Given the description of an element on the screen output the (x, y) to click on. 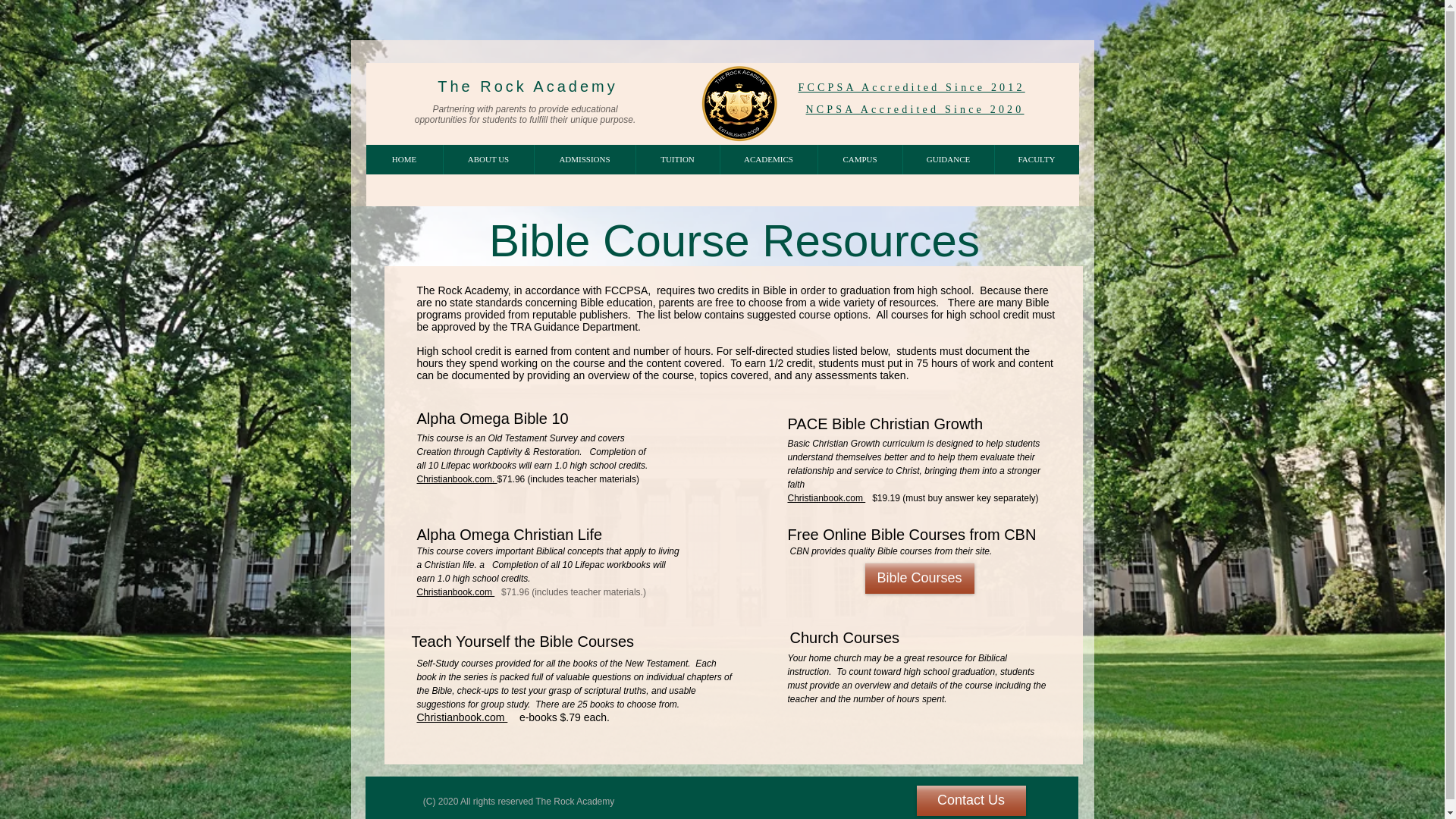
GUIDANCE (948, 159)
ACADEMICS (767, 159)
HOME (403, 159)
FCCPSA Accredited Since 2012 (911, 87)
TUITION (676, 159)
ADMISSIONS (584, 159)
FACULTY (1035, 159)
Contact Us (970, 800)
ABOUT US (488, 159)
Christianbook.com  (462, 717)
Bible Courses (919, 578)
Christianbook.com  (825, 496)
NCPSA Accredited Since 2020 (914, 109)
Christianbook.com  (455, 590)
CAMPUS (859, 159)
